Given the description of an element on the screen output the (x, y) to click on. 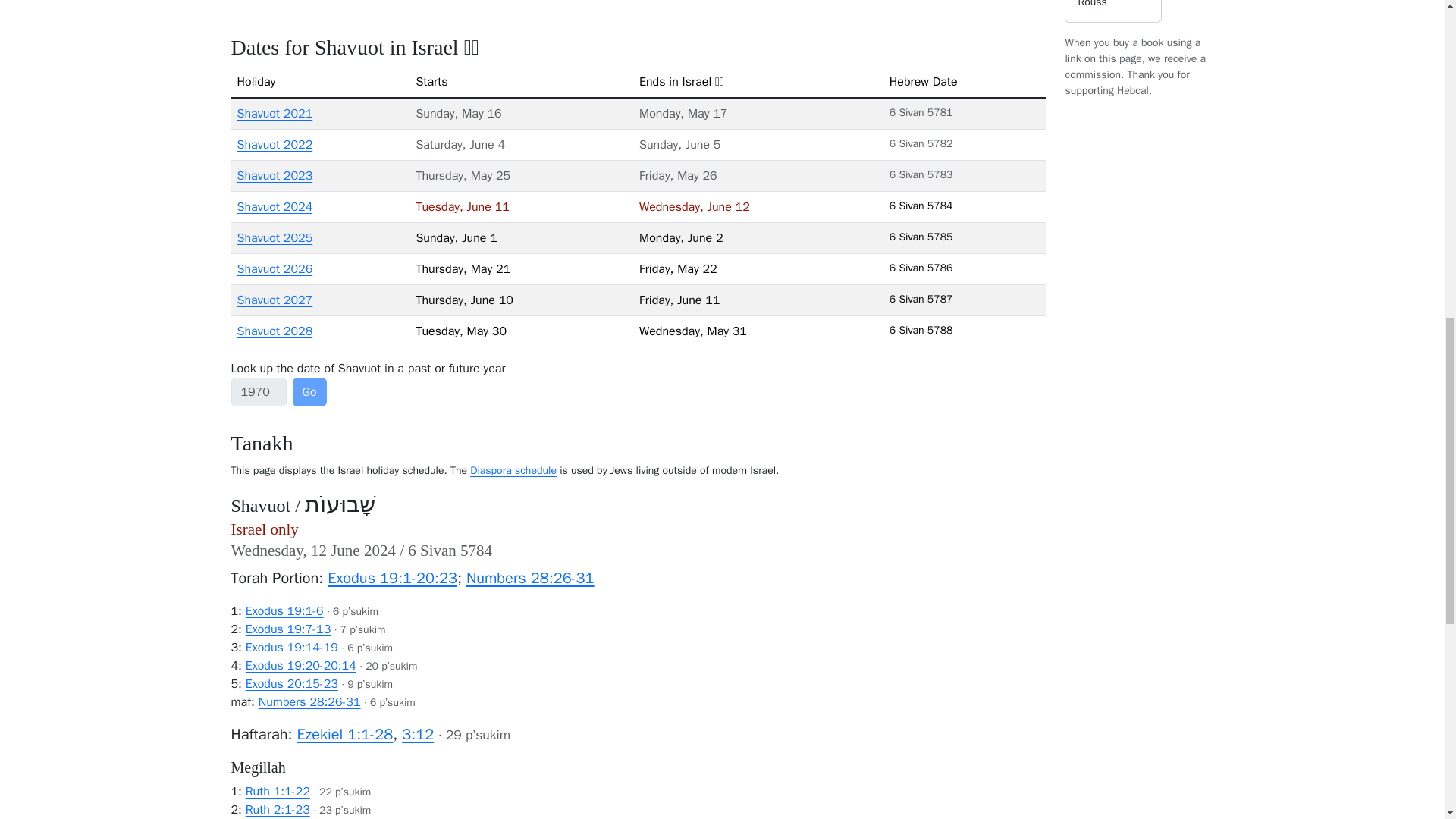
Exodus 19:7-13 (288, 629)
Exodus 20:15-23 (291, 683)
Hebrew-English text and commentary from Sefaria.org (291, 647)
Shavuot 2028 (274, 331)
Exodus 19:1-6 (284, 611)
Shavuot 2023 (274, 175)
Diaspora schedule (513, 470)
Shavuot 2022 (274, 144)
Shavuot 2024 (274, 206)
Shavuot 2026 (274, 268)
